Given the description of an element on the screen output the (x, y) to click on. 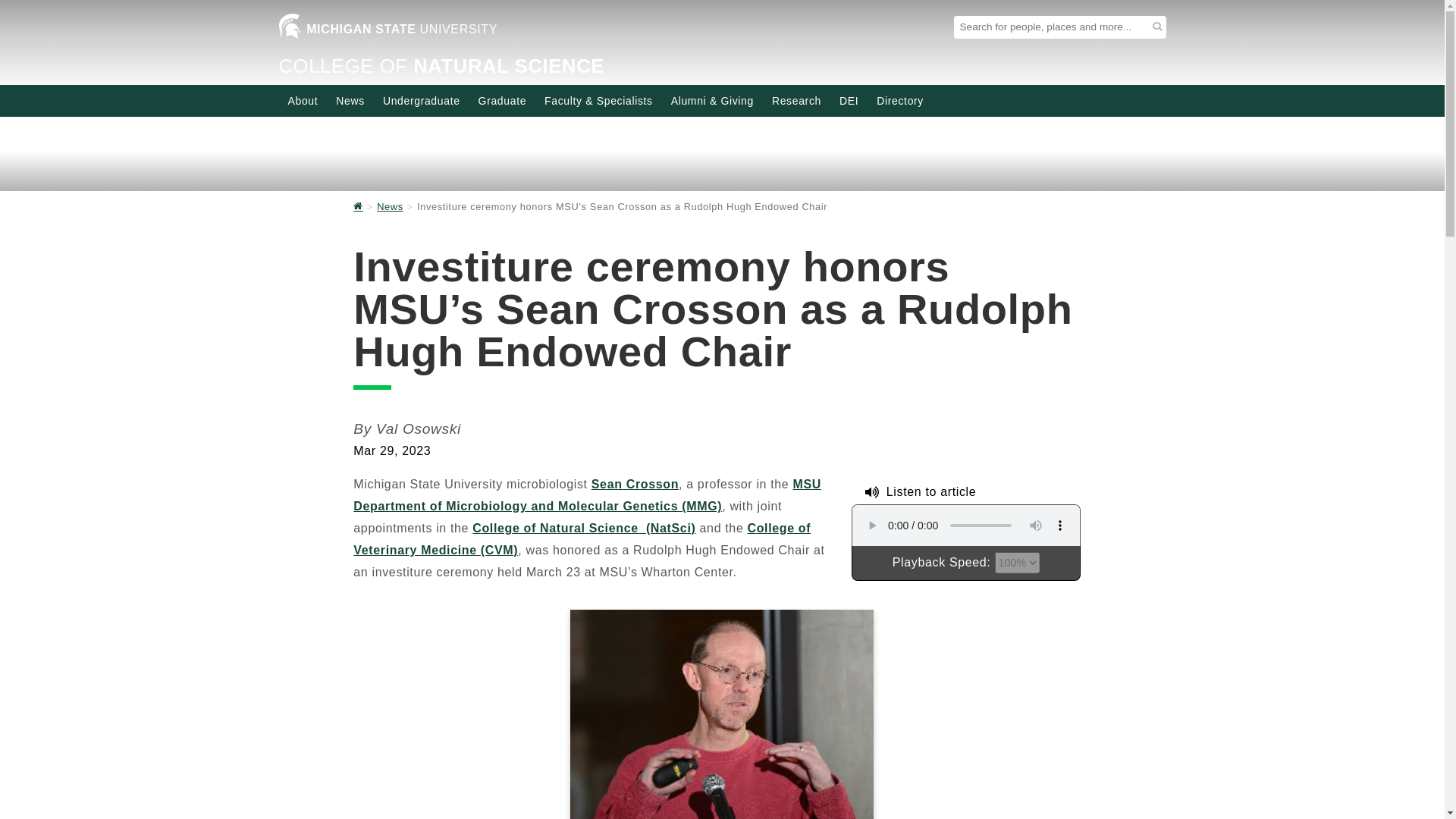
News (350, 100)
Undergraduate (421, 100)
MICHIGAN STATE UNIVERSITY (388, 32)
Graduate (501, 100)
COLLEGE OF NATURAL SCIENCE (442, 65)
About (303, 100)
